Given the description of an element on the screen output the (x, y) to click on. 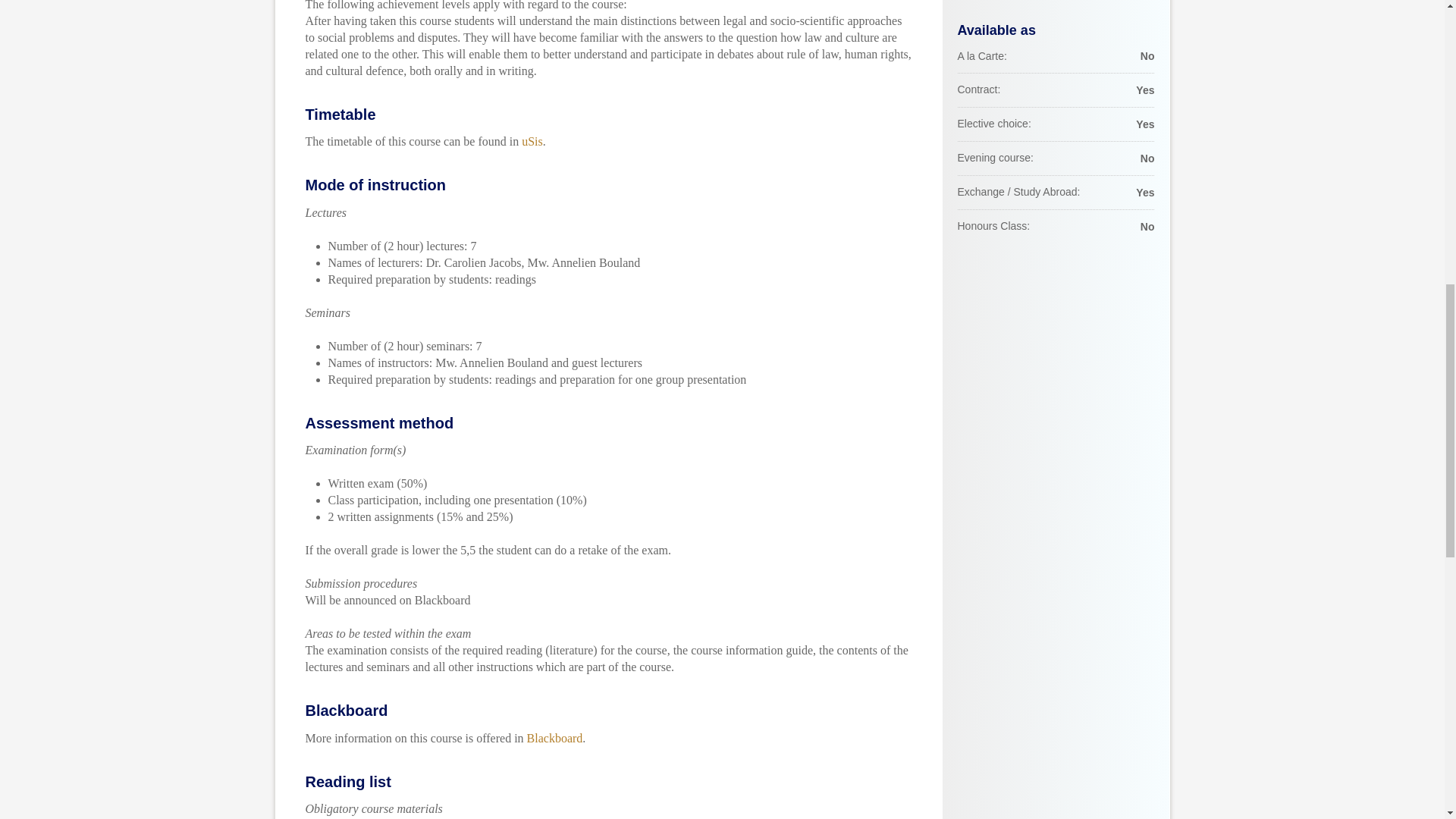
Blackboard (555, 737)
uSis (532, 141)
